Given the description of an element on the screen output the (x, y) to click on. 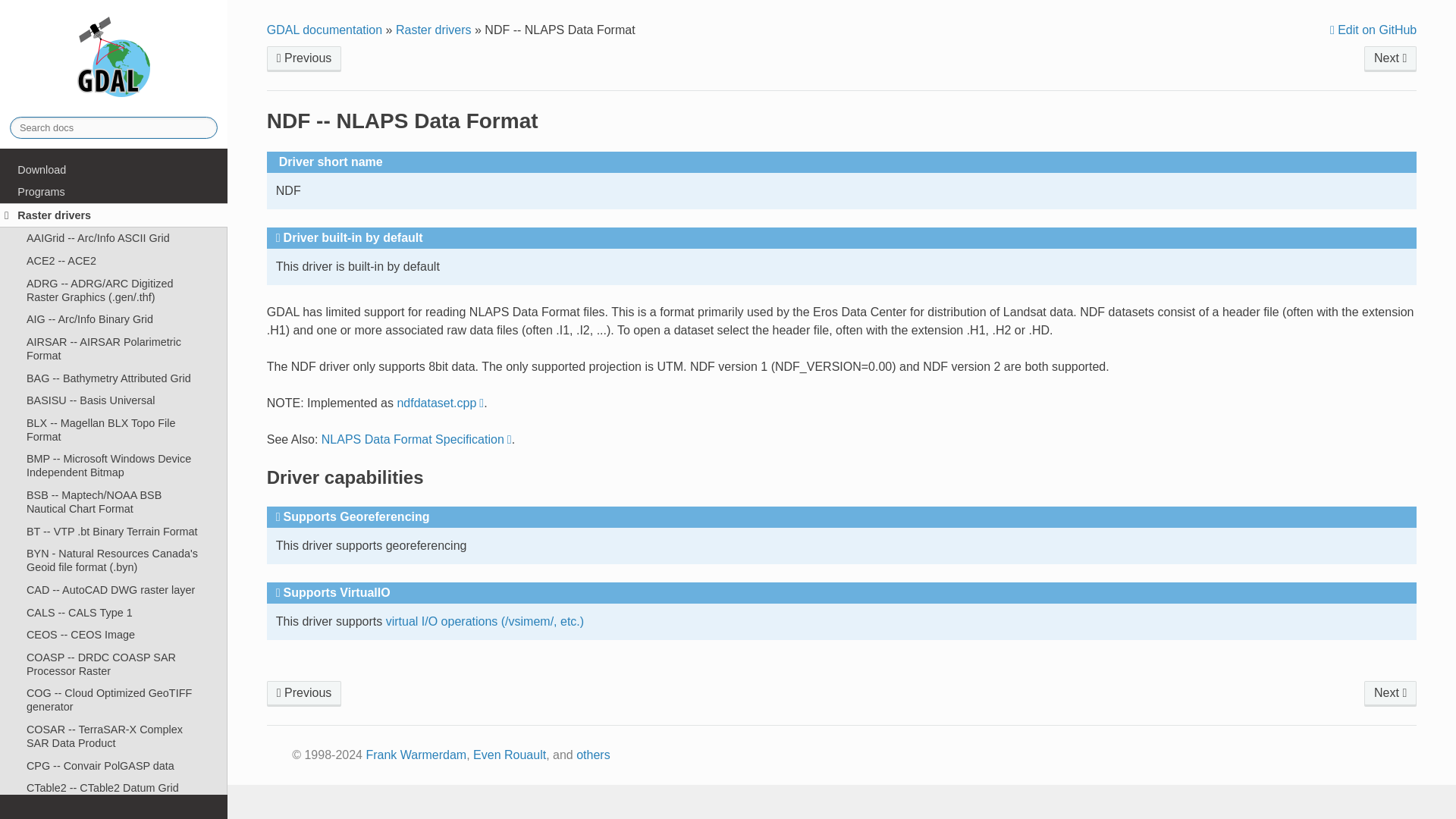
CALS -- CALS Type 1 (113, 612)
Raster drivers (113, 215)
NetCDF: Network Common Data Form (1390, 693)
COG -- Cloud Optimized GeoTIFF generator (113, 700)
BLX -- Magellan BLX Topo File Format (113, 429)
BAG -- Bathymetry Attributed Grid (113, 377)
BASISU -- Basis Universal (113, 400)
AIRSAR -- AIRSAR Polarimetric Format (113, 348)
NetCDF: Network Common Data Form (1390, 58)
CEOS -- CEOS Image (113, 634)
CPG -- Convair PolGASP data (113, 765)
ACE2 -- ACE2 (113, 260)
Download (113, 169)
CTable2 -- CTable2 Datum Grid Shift (113, 794)
Programs (113, 191)
